Given the description of an element on the screen output the (x, y) to click on. 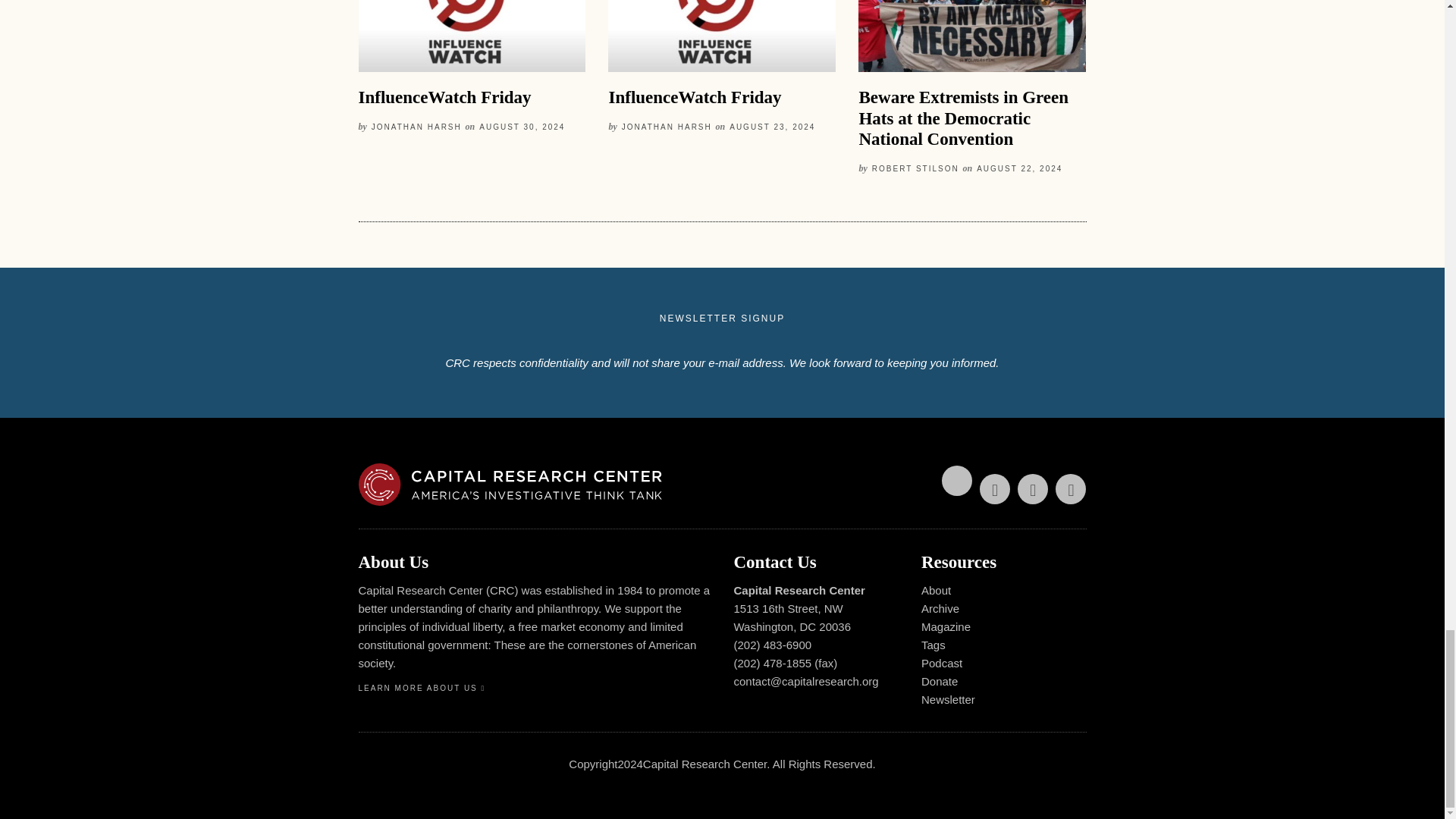
Follow Us on Facebook (994, 489)
Follow Us on YouTube (1032, 489)
Follow Us on Instagram (1070, 489)
Follow Us on Twitter (957, 481)
